Given the description of an element on the screen output the (x, y) to click on. 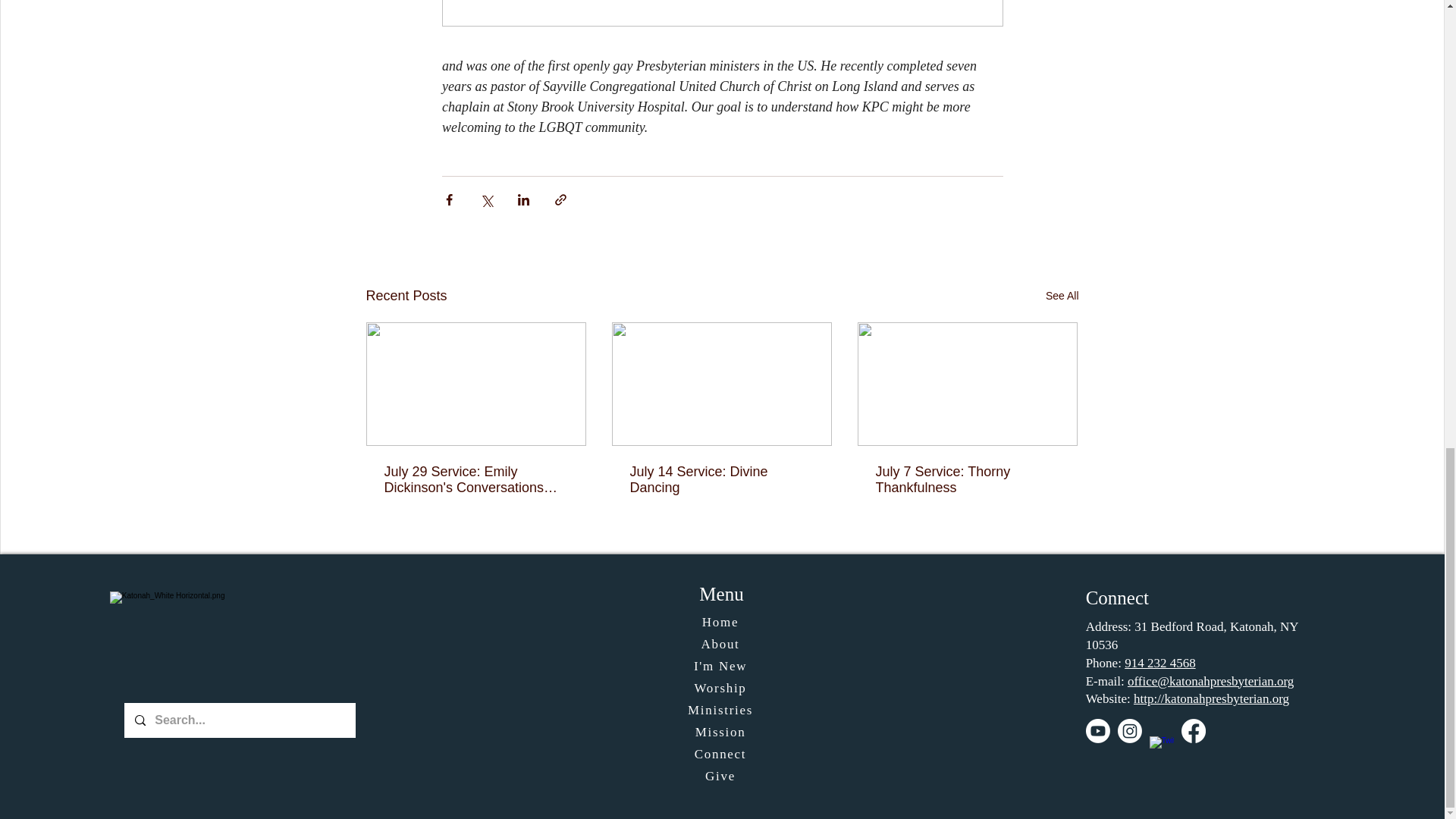
See All (1061, 296)
